Given the description of an element on the screen output the (x, y) to click on. 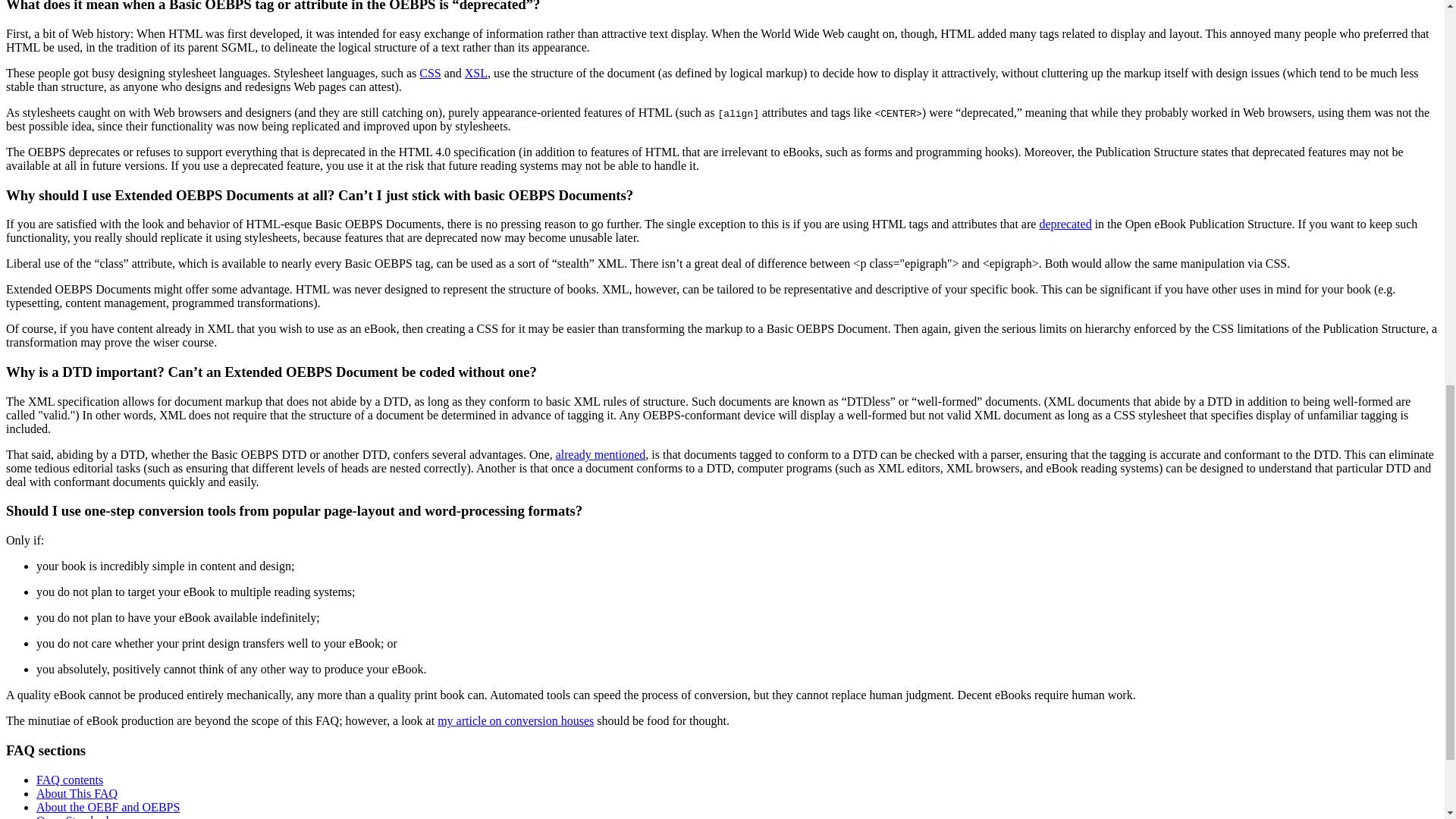
CSS (430, 72)
FAQ contents (69, 779)
About This FAQ (76, 793)
Open Standards (74, 816)
deprecated (1064, 223)
already mentioned (601, 454)
About the OEBF and OEBPS (107, 807)
my article on conversion houses (516, 720)
XSL (475, 72)
